Given the description of an element on the screen output the (x, y) to click on. 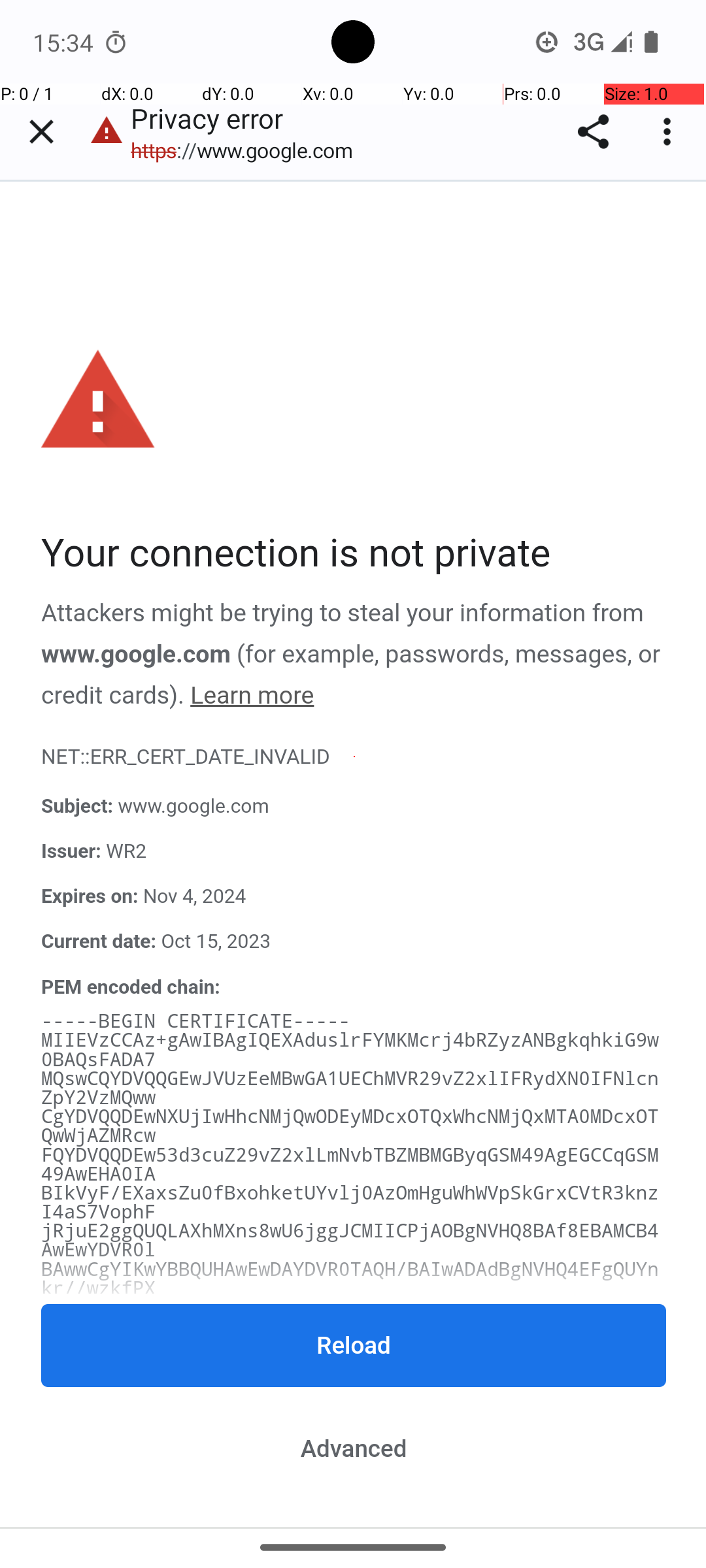
Subject: www.google.com Element type: android.widget.TextView (354, 806)
Issuer: WR2 Element type: android.widget.TextView (354, 851)
Expires on: Nov 4, 2024 Element type: android.widget.TextView (354, 896)
Current date: Oct 15, 2023 Element type: android.widget.TextView (354, 942)
PEM encoded chain: Element type: android.widget.TextView (130, 986)
-----BEGIN CERTIFICATE----- Element type: android.widget.TextView (196, 1021)
MIIEVzCCAz+gAwIBAgIQEXAduslrFYMKMcrj4bRZyzANBgkqhkiG9w0BAQsFADA7 Element type: android.widget.TextView (349, 1049)
MQswCQYDVQQGEwJVUzEeMBwGA1UEChMVR29vZ2xlIFRydXN0IFNlcnZpY2VzMQww Element type: android.widget.TextView (349, 1088)
CgYDVQQDEwNXUjIwHhcNMjQwODEyMDcxOTQxWhcNMjQxMTA0MDcxOTQwWjAZMRcw Element type: android.widget.TextView (349, 1126)
FQYDVQQDEw53d3cuZ29vZ2xlLmNvbTBZMBMGByqGSM49AgEGCCqGSM49AwEHA0IA Element type: android.widget.TextView (349, 1164)
BIkVyF/EXaxsZu0fBxohketUYvlj0AzOmHguWhWVpSkGrxCVtR3knzI4aS7VophF Element type: android.widget.TextView (349, 1203)
jRjuE2ggQUQLAXhMXns8wU6jggJCMIICPjAOBgNVHQ8BAf8EBAMCB4AwEwYDVR0l Element type: android.widget.TextView (349, 1240)
BAwwCgYIKwYBBQUHAwEwDAYDVR0TAQH/BAIwADAdBgNVHQ4EFgQUYnkr//wzkfPX Element type: android.widget.TextView (349, 1278)
eKpzpdEjjKa6QGswHwYDVR0jBBgwFoAU3hse7XkV1D43JMMhu+w0OW1CsjAwWAYI Element type: android.widget.TextView (349, 1316)
KwYBBQUHAQEETDBKMCEGCCsGAQUFBzABhhVodHRwOi8vby5wa2kuZ29vZy93cjIw Element type: android.widget.TextView (349, 1354)
JQYIKwYBBQUHMAKGGWh0dHA6Ly9pLnBraS5nb29nL3dyMi5jcnQwGQYDVR0RBBIw Element type: android.widget.TextView (349, 1392)
EIIOd3d3Lmdvb2dsZS5jb20wEwYDVR0gBAwwCjAIBgZngQwBAgEwNgYDVR0fBC8w Element type: android.widget.TextView (349, 1431)
LTAroCmgJ4YlaHR0cDovL2MucGtpLmdvb2cvd3IyL29RNm55cjhGMG0wLmNybDCC Element type: android.widget.TextView (349, 1469)
AQUGCisGAQQB1nkCBAIEgfYEgfMA8QB2AO7N0GTV2xrOxVy3nbTNE6Iyh0Z8vOze Element type: android.widget.TextView (349, 1507)
w1FIWUZxH7WbAAABkUWr9HcAAAQDAEcwRQIgBX6vaf0Siq0brdVZWsN2Xi8NEy1j Element type: android.widget.TextView (349, 1526)
